Given the description of an element on the screen output the (x, y) to click on. 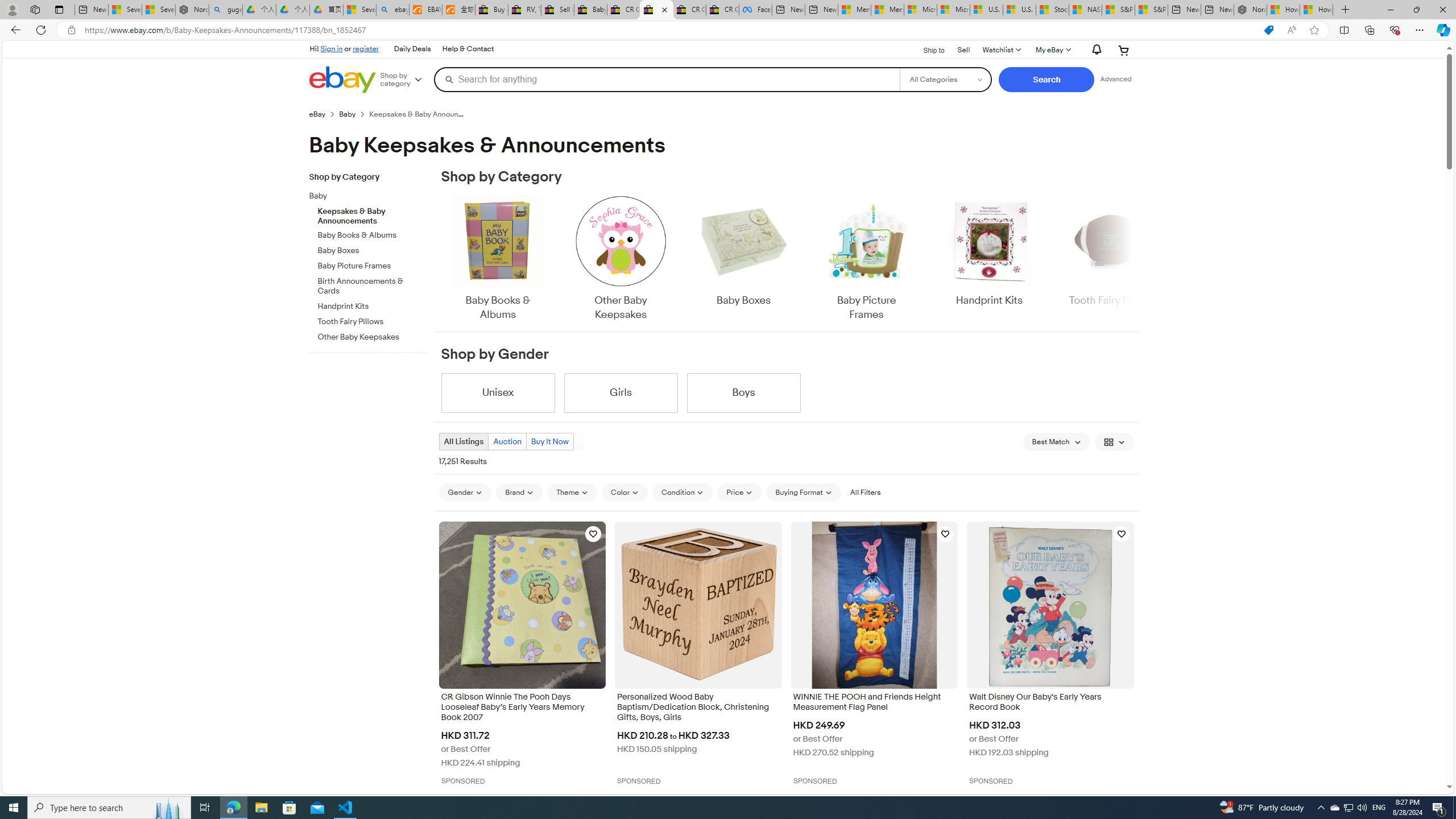
Baby Boxes (742, 258)
Add this page to favorites (Ctrl+D) (1314, 29)
All Filters (864, 492)
Price (739, 492)
All Filters (864, 492)
Shop by category (405, 79)
Browser essentials (1394, 29)
Go to next slide (1131, 258)
Copilot (Ctrl+Shift+.) (1442, 29)
Handprint Kits (988, 258)
